Given the description of an element on the screen output the (x, y) to click on. 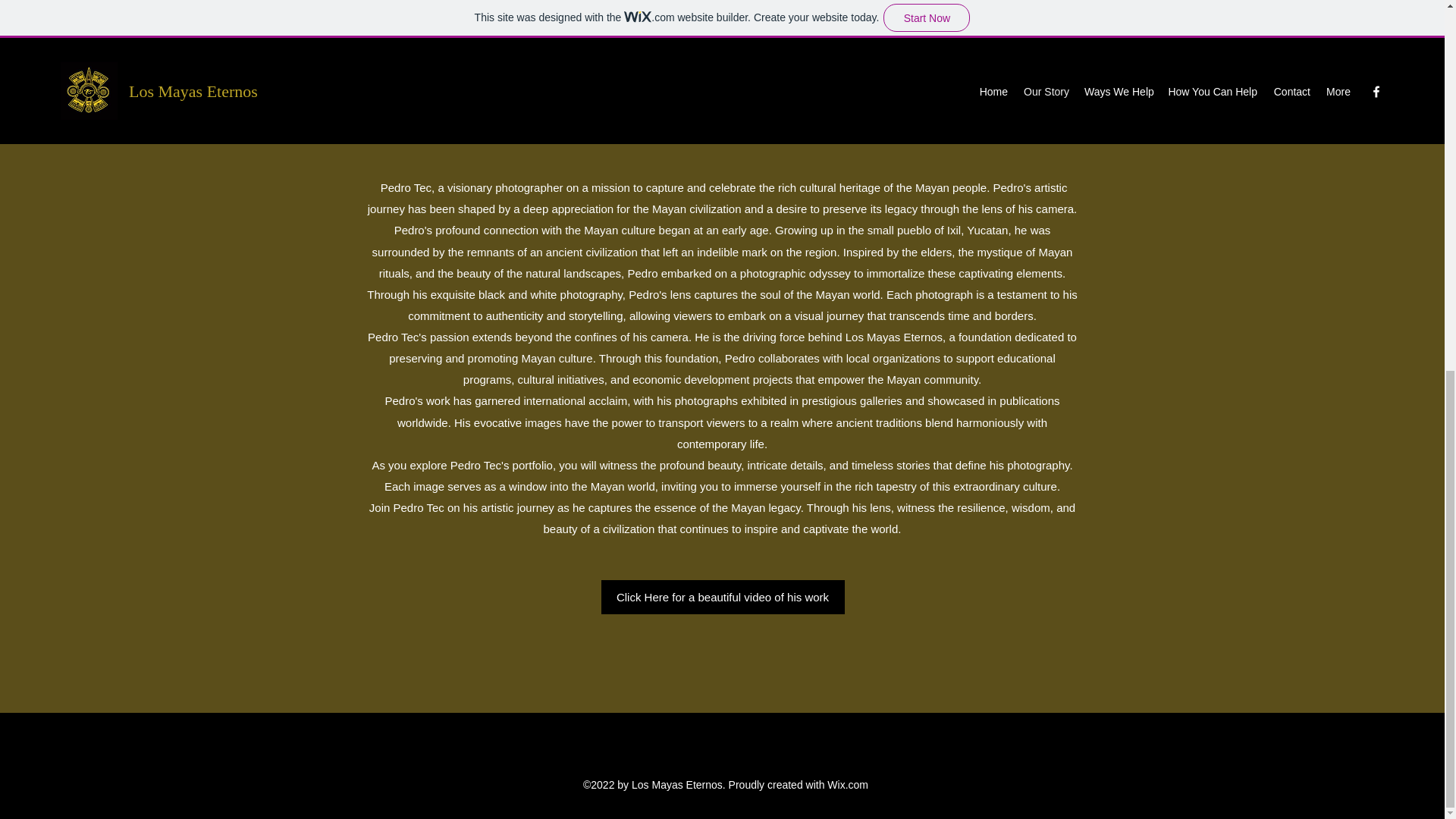
Click Here for a beautiful video of his work (721, 596)
